Given the description of an element on the screen output the (x, y) to click on. 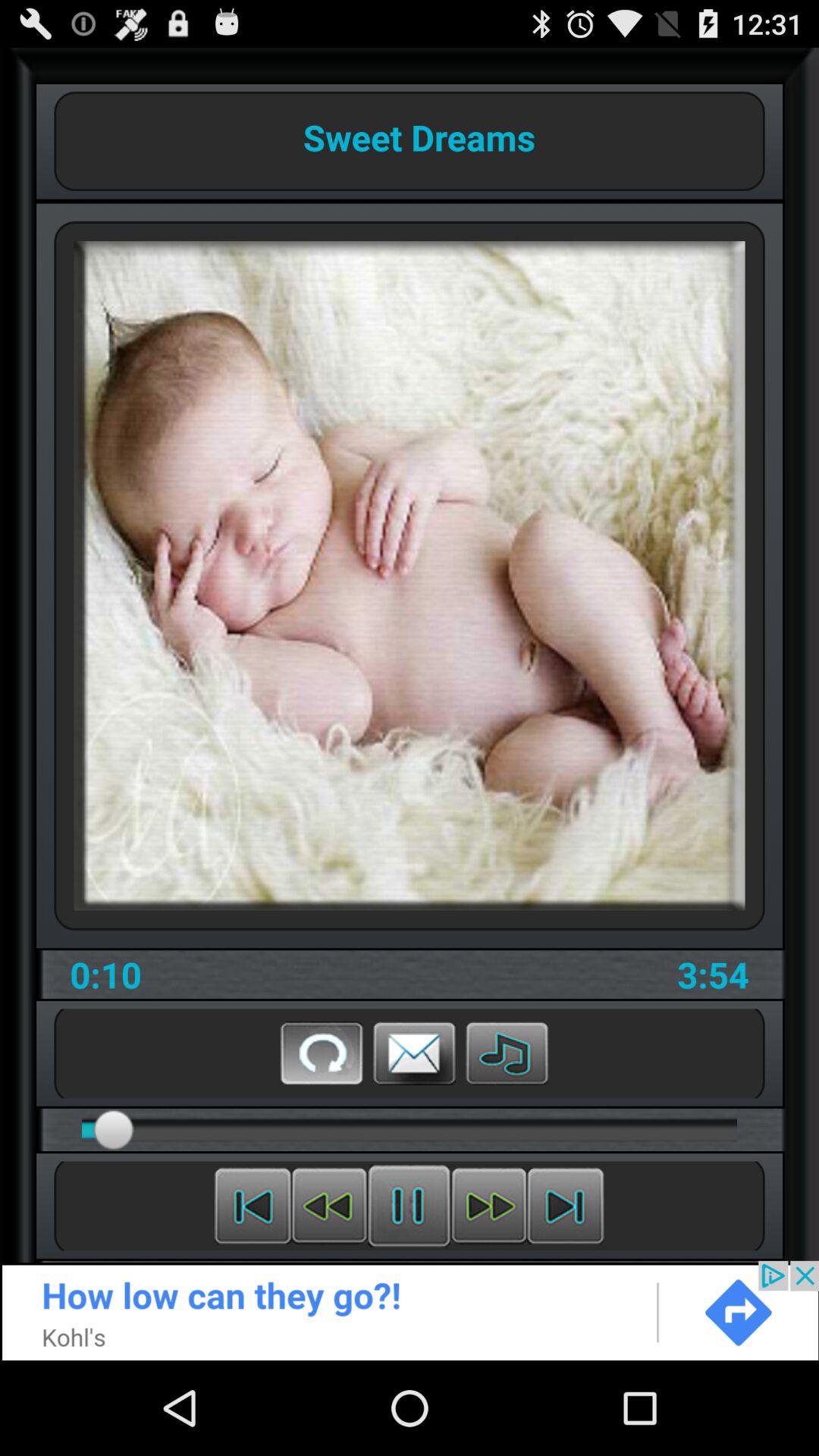
go to previous (329, 1205)
